Given the description of an element on the screen output the (x, y) to click on. 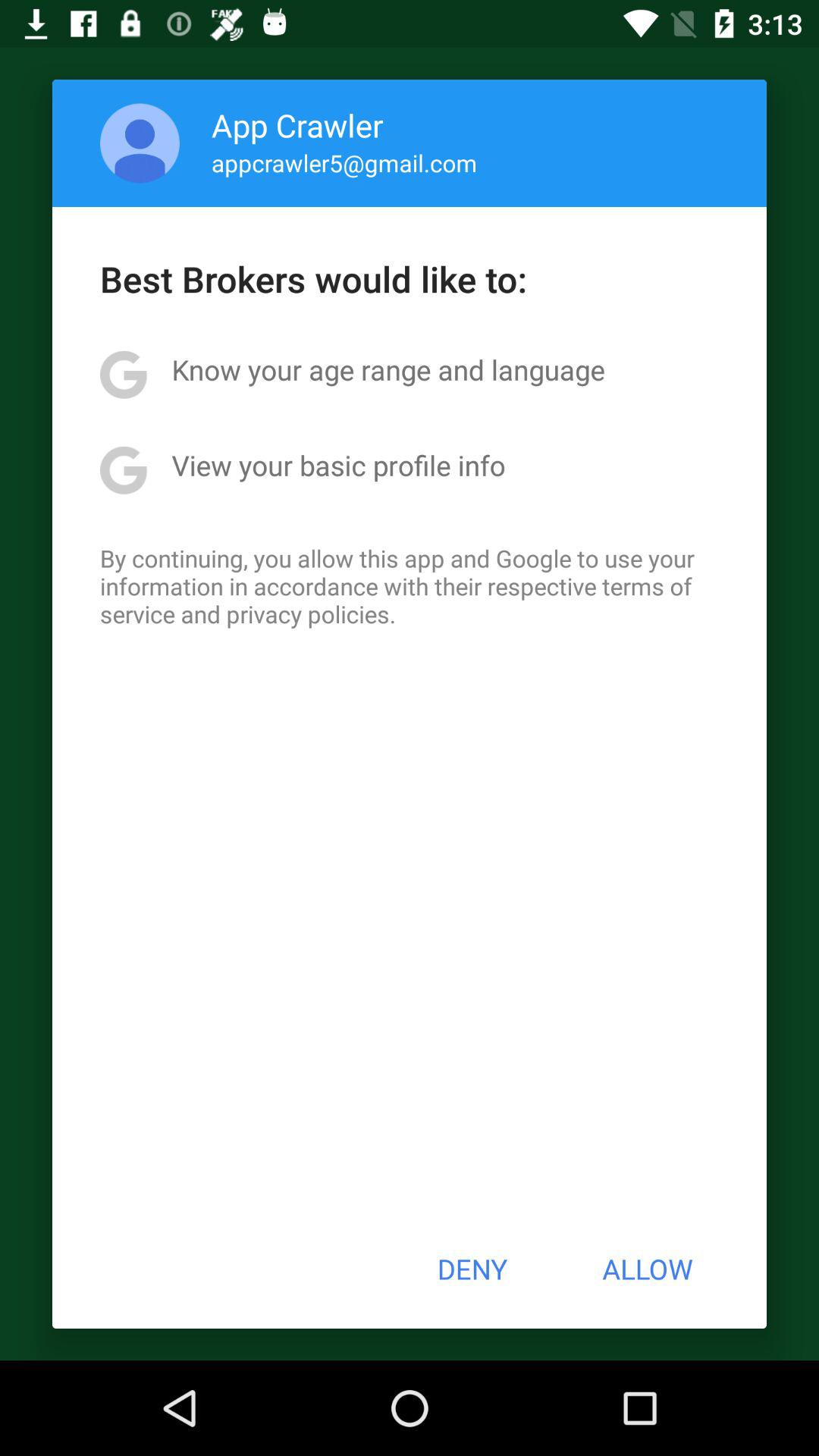
swipe to view your basic item (338, 465)
